Given the description of an element on the screen output the (x, y) to click on. 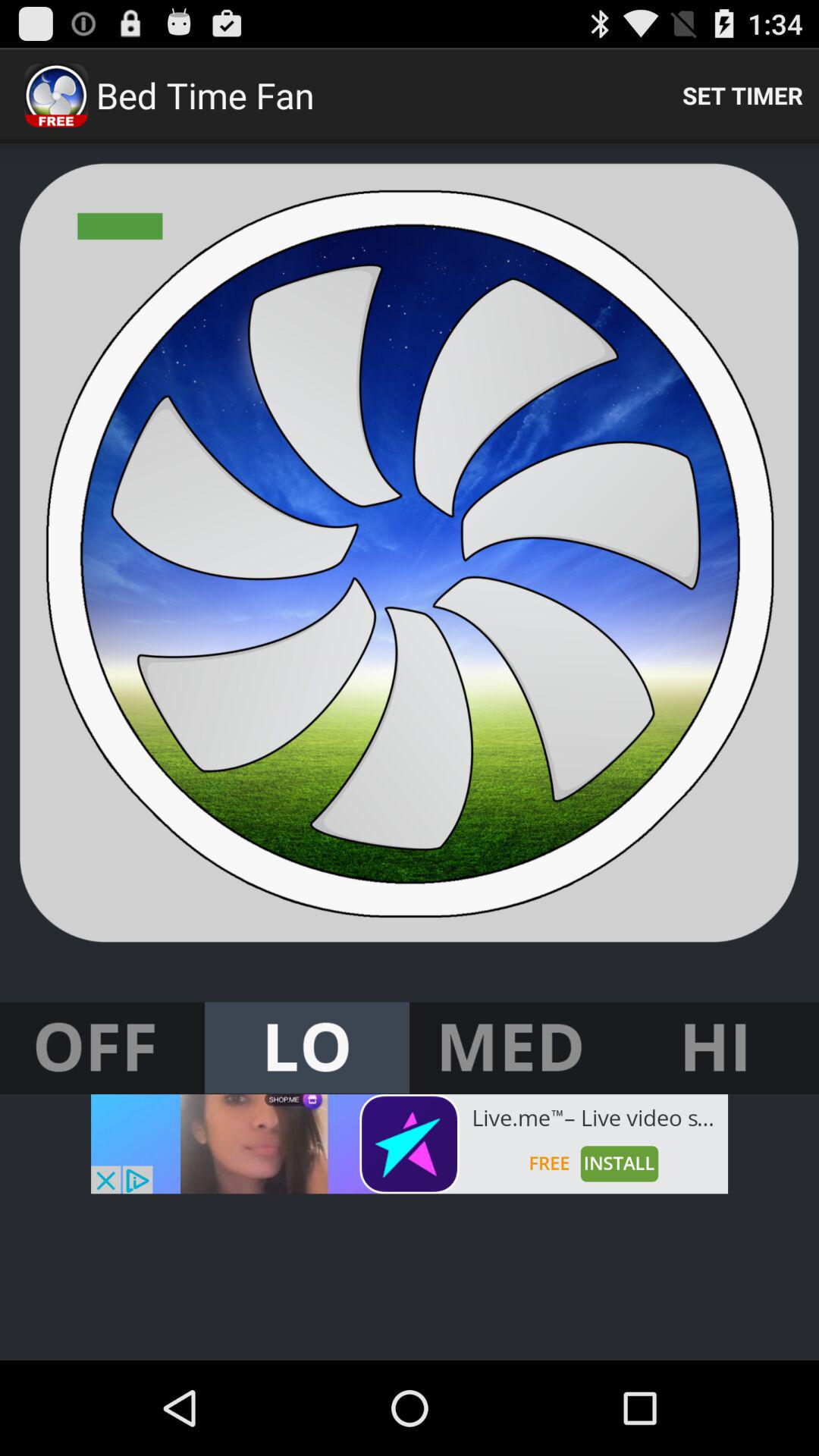
play high speed fan sound (716, 1048)
